Given the description of an element on the screen output the (x, y) to click on. 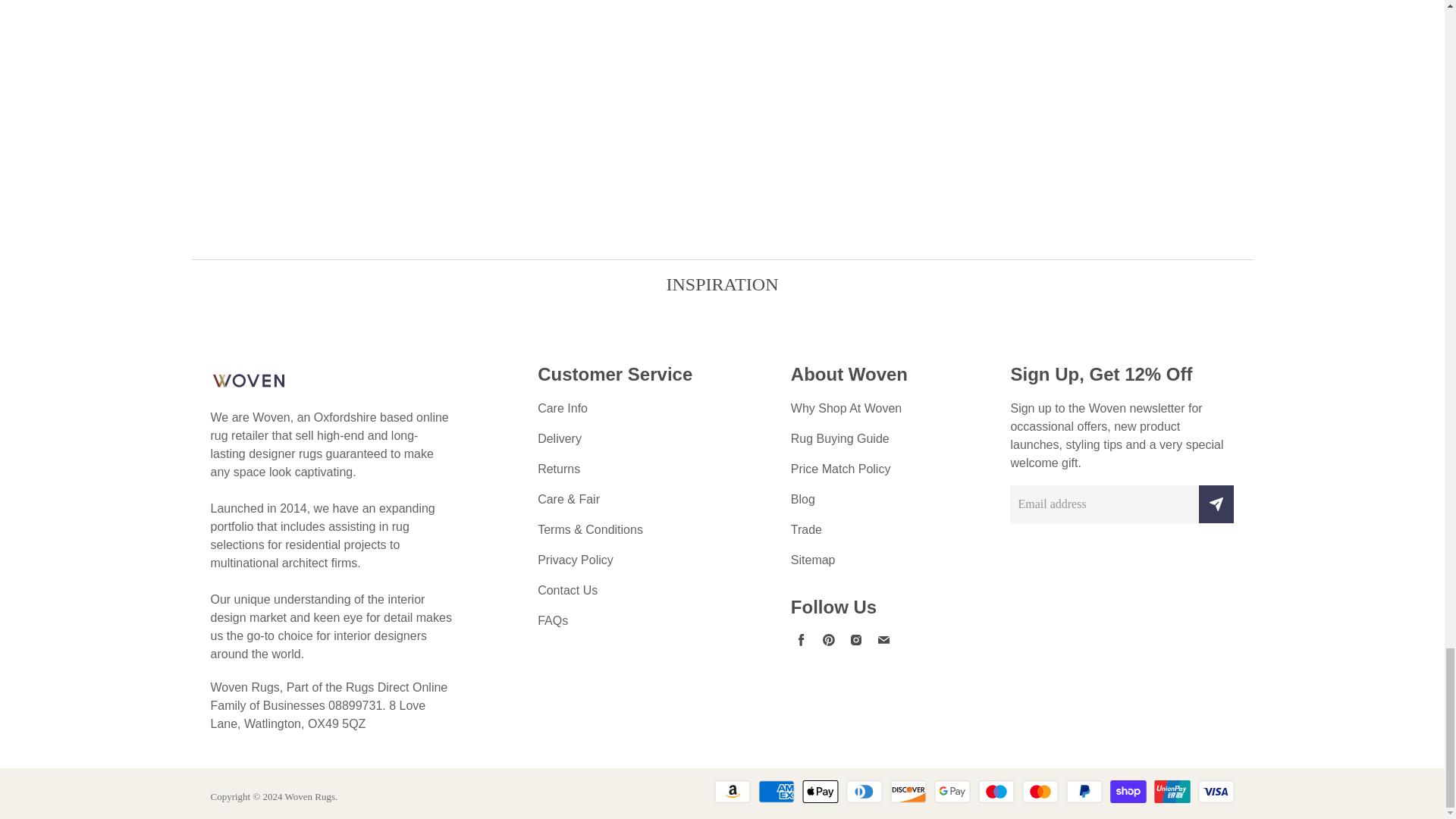
Apple Pay (820, 791)
American Express (776, 791)
Amazon (732, 791)
